Given the description of an element on the screen output the (x, y) to click on. 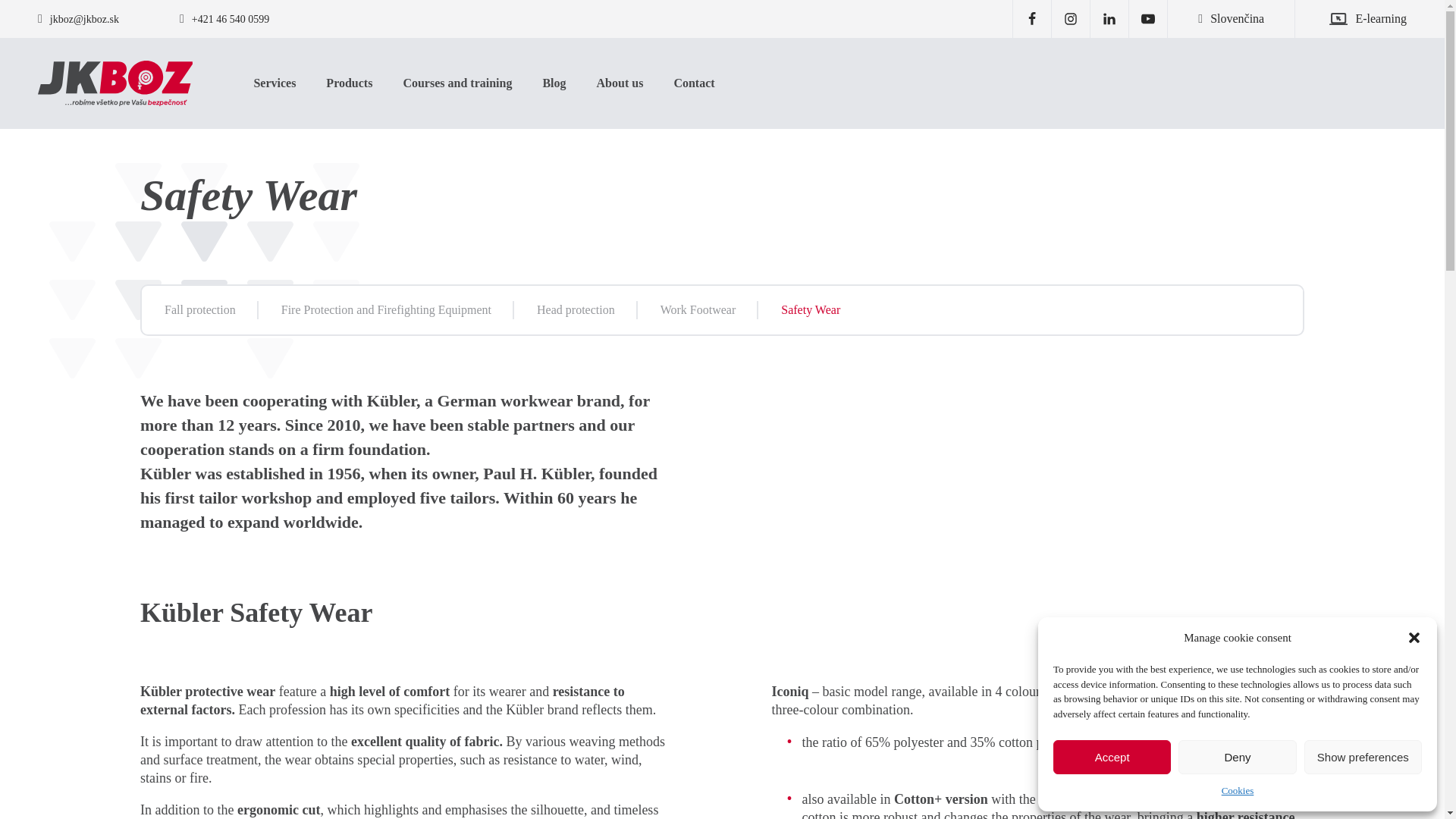
E-learning (1350, 18)
Deny (1236, 756)
Accept (1111, 756)
Show preferences (1363, 756)
Cookies (1237, 791)
